Given the description of an element on the screen output the (x, y) to click on. 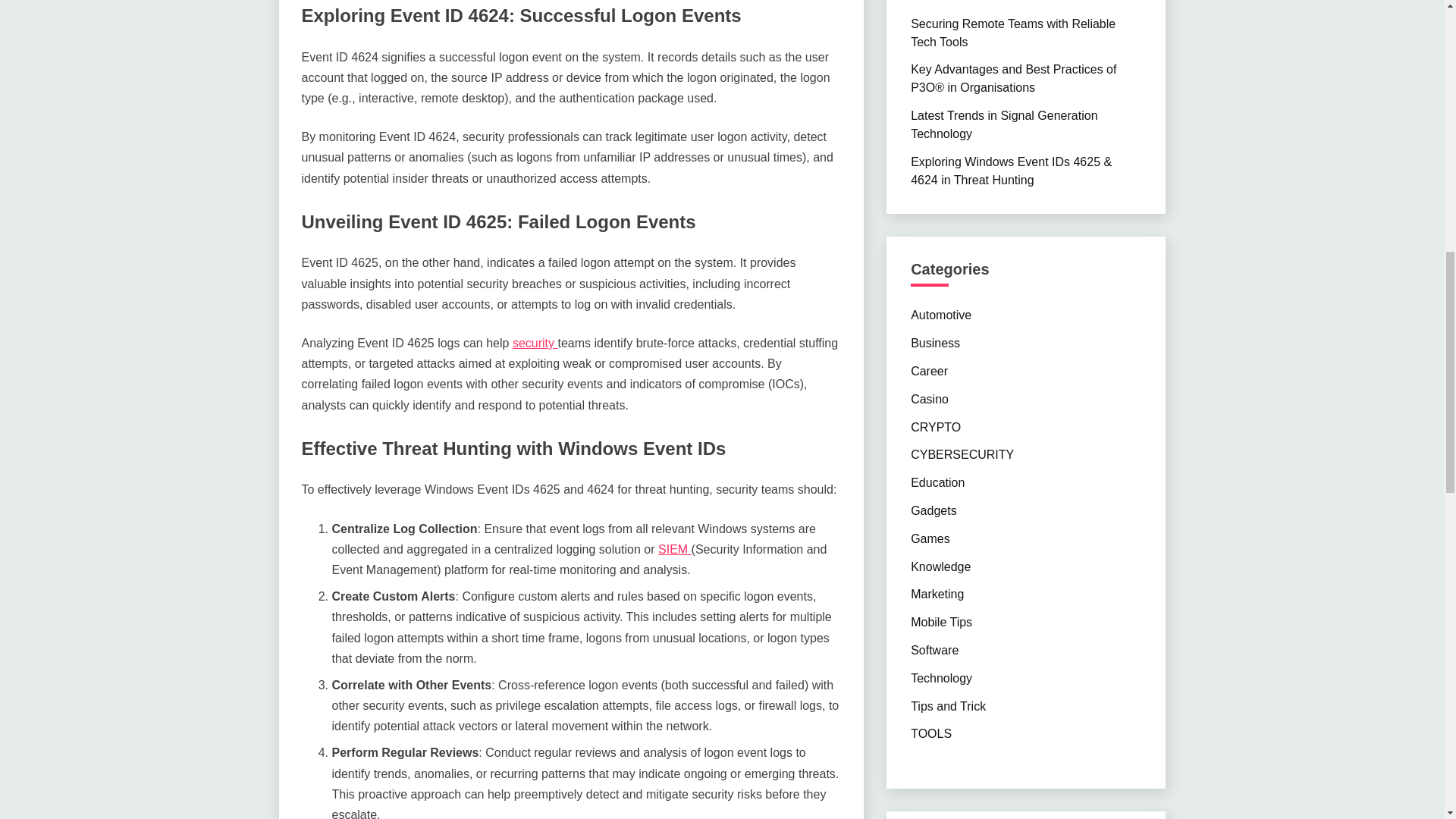
SIEM (674, 549)
security (534, 342)
